Given the description of an element on the screen output the (x, y) to click on. 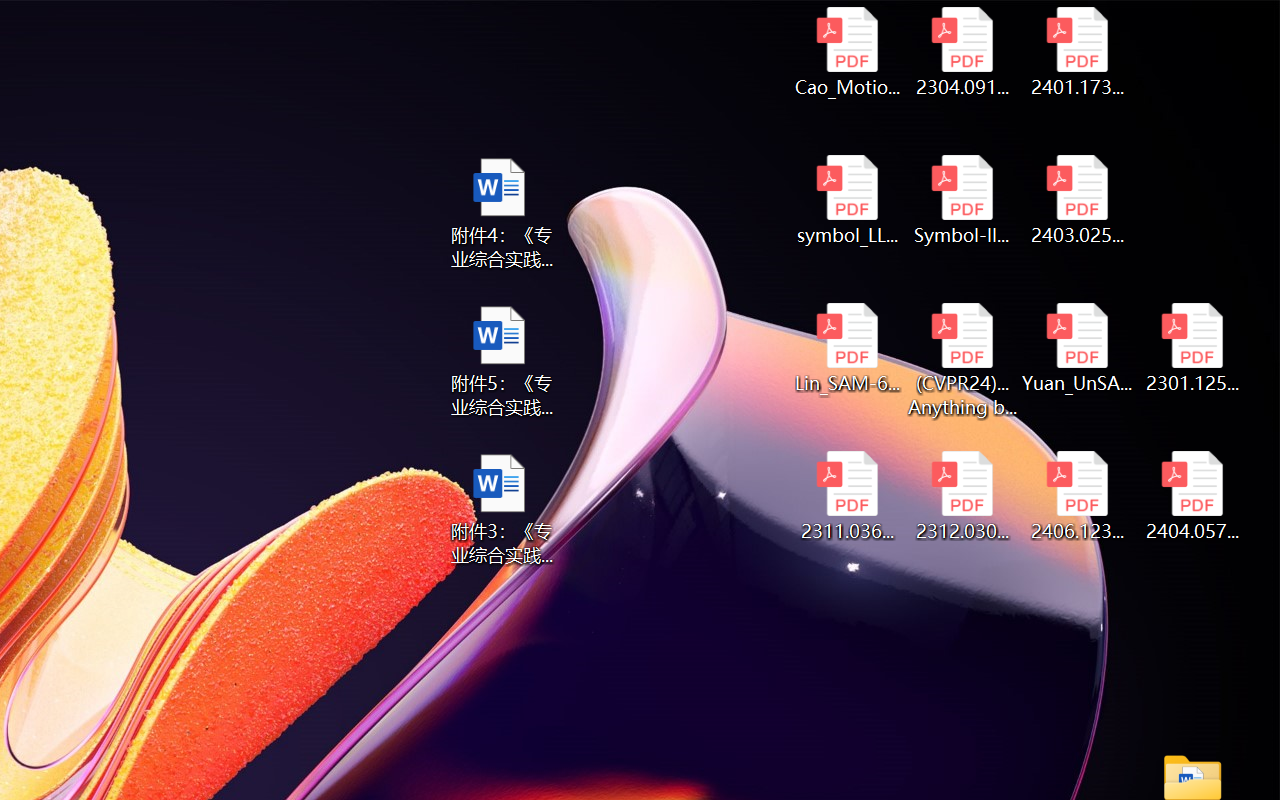
2404.05719v1.pdf (1192, 496)
2311.03658v2.pdf (846, 496)
